Given the description of an element on the screen output the (x, y) to click on. 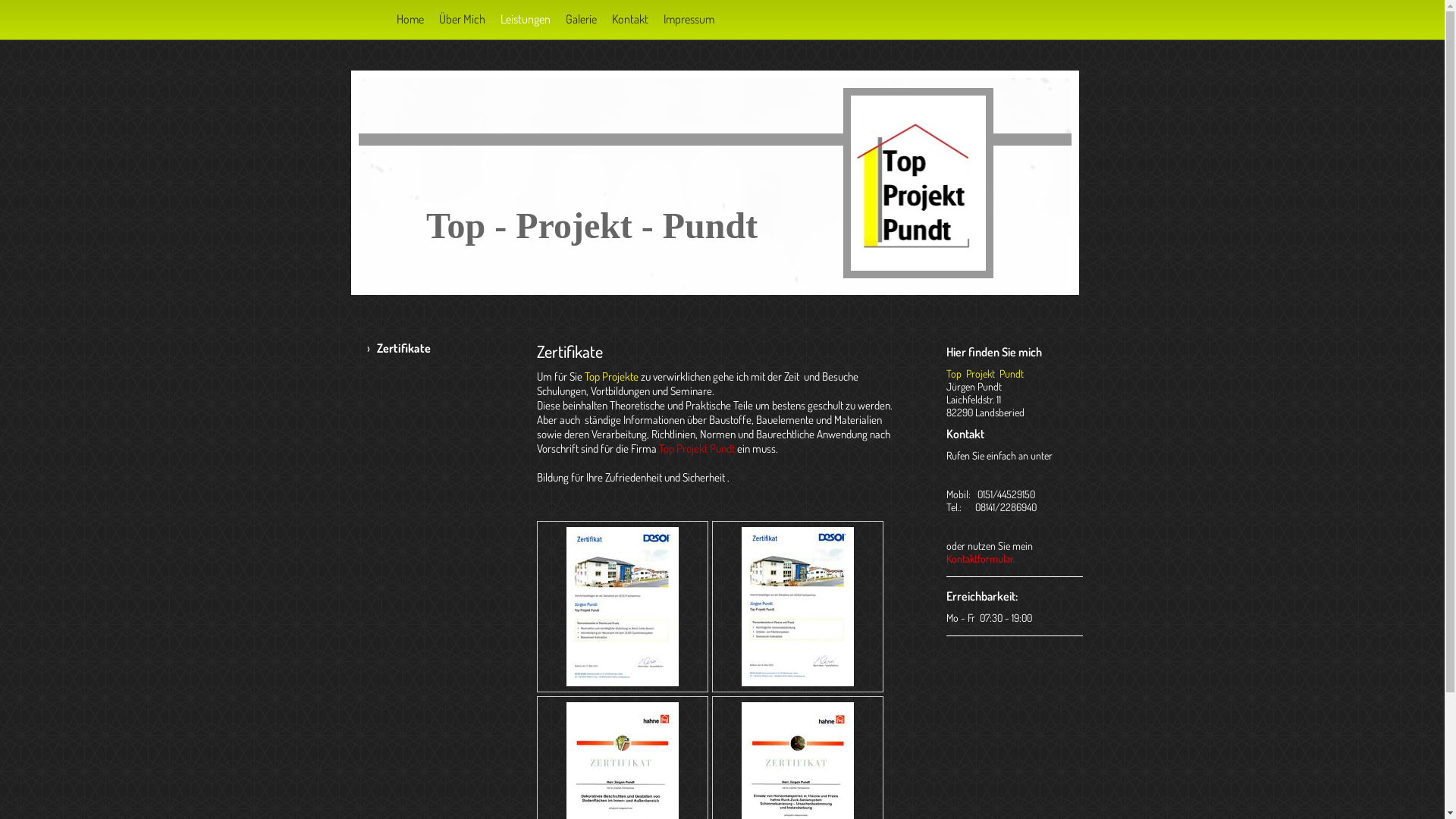
Zertifikate Element type: text (444, 347)
Kontakt Element type: text (629, 18)
Leistungen Element type: text (525, 18)
Galerie Element type: text (580, 18)
Home Element type: text (409, 18)
Kontaktformular Element type: text (979, 558)
Impressum Element type: text (687, 18)
